Given the description of an element on the screen output the (x, y) to click on. 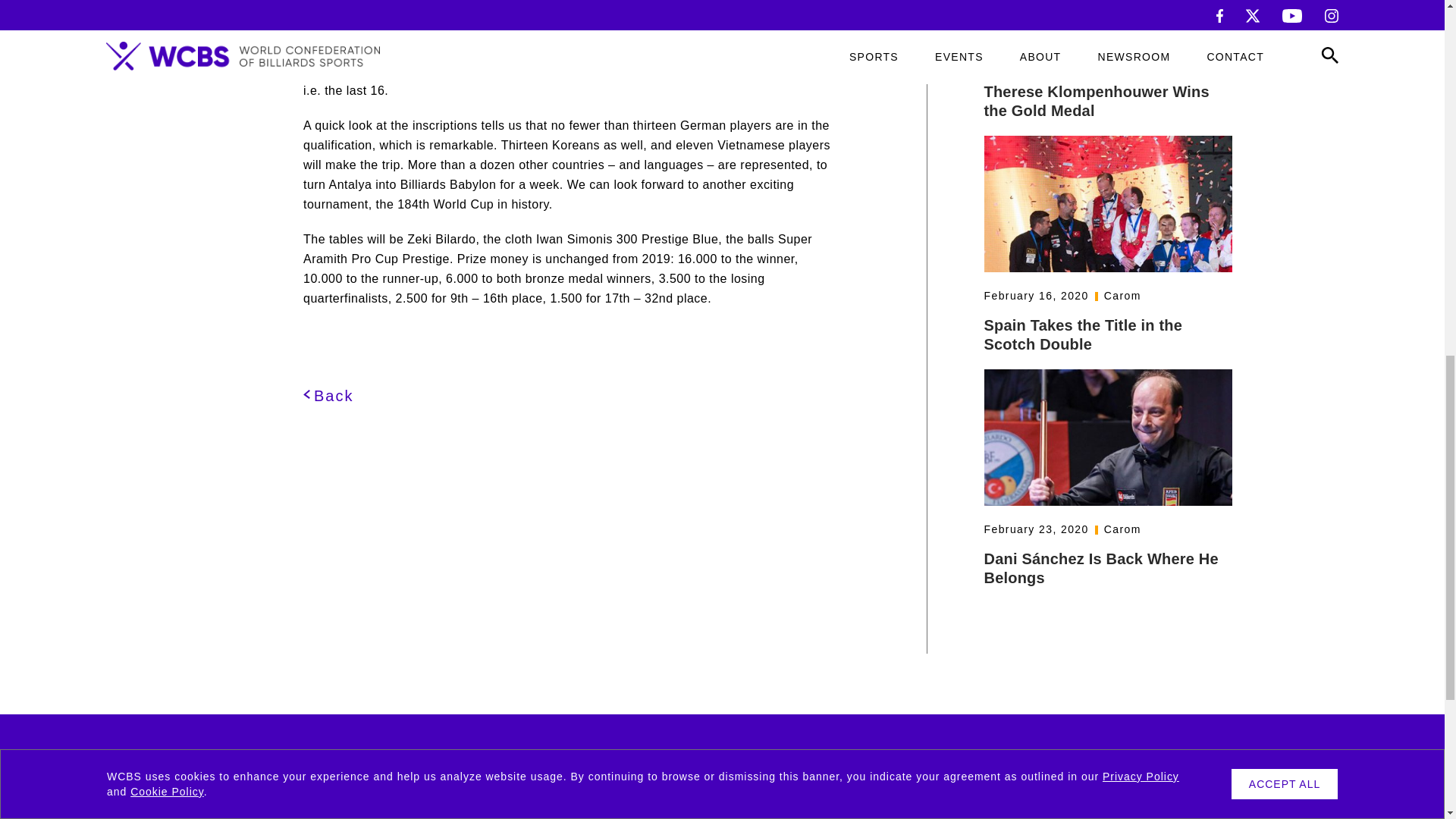
Back (327, 395)
